Given the description of an element on the screen output the (x, y) to click on. 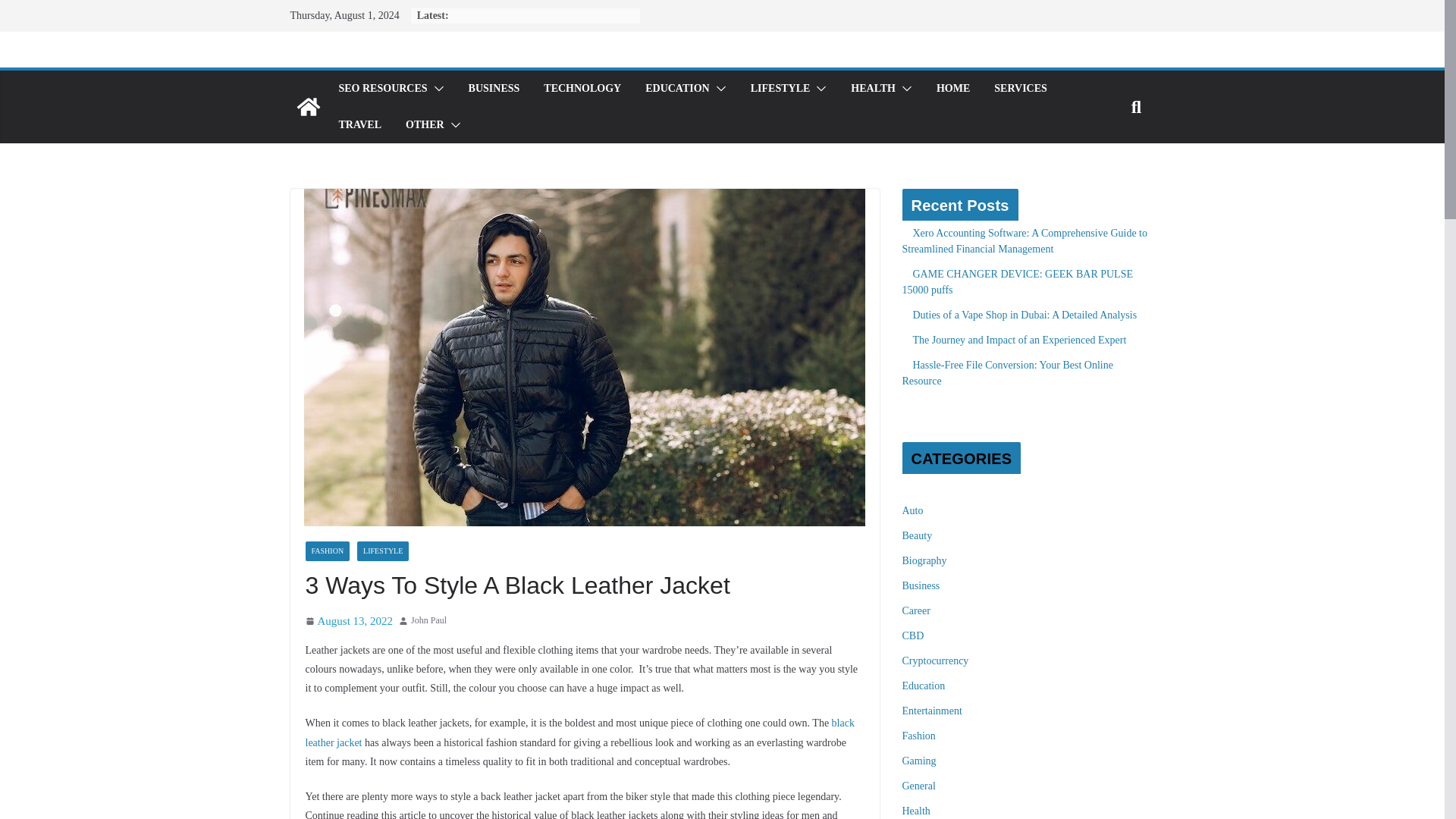
John Paul (428, 620)
SEO RESOURCES (381, 88)
HOME (952, 88)
BUSINESS (493, 88)
black leather jacket (578, 732)
LIFESTYLE (780, 88)
August 13, 2022 (348, 620)
TECHNOLOGY (582, 88)
OTHER (425, 124)
LIFESTYLE (382, 551)
Blogpostusa (307, 106)
4:46 am (348, 620)
EDUCATION (677, 88)
John Paul (428, 620)
SERVICES (1020, 88)
